Given the description of an element on the screen output the (x, y) to click on. 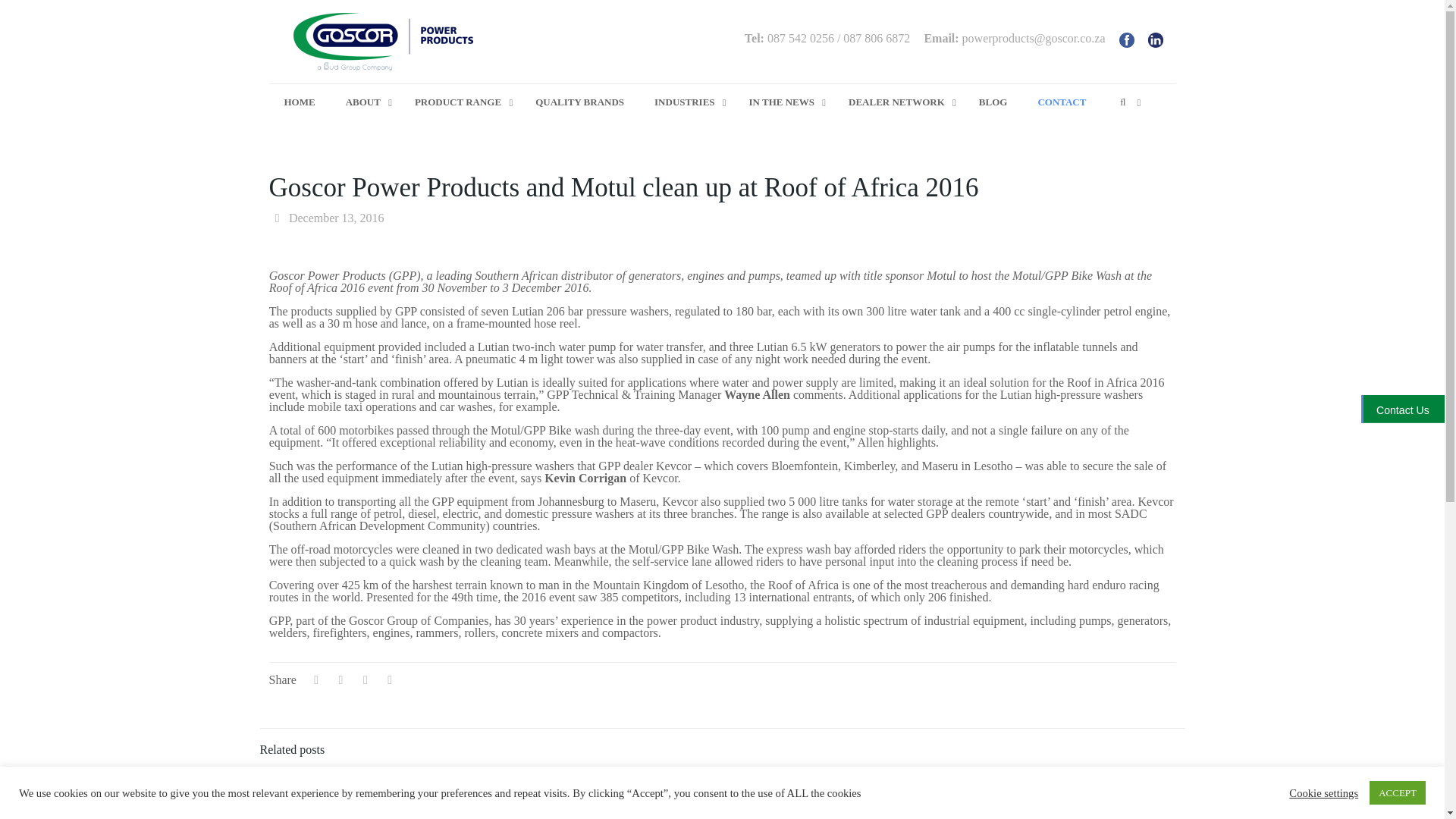
ABOUT (364, 101)
INDUSTRIES (686, 101)
BLOG (993, 101)
CONTACT (1061, 101)
QUALITY BRANDS (579, 101)
IN THE NEWS (782, 101)
PRODUCT RANGE (458, 101)
Goscor Power Products (382, 41)
DEALER NETWORK (897, 101)
